Given the description of an element on the screen output the (x, y) to click on. 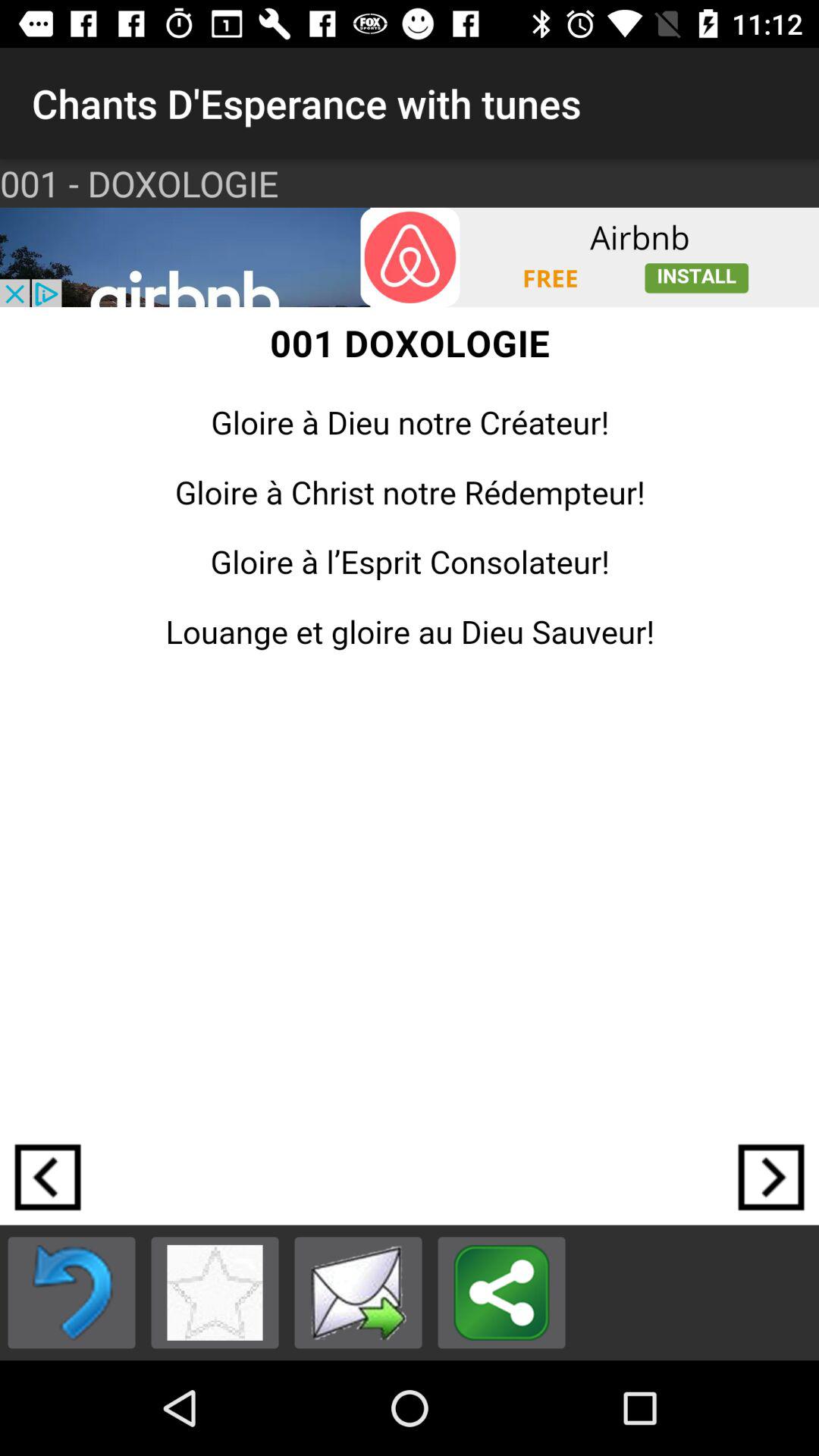
go to next screen (771, 1177)
